Given the description of an element on the screen output the (x, y) to click on. 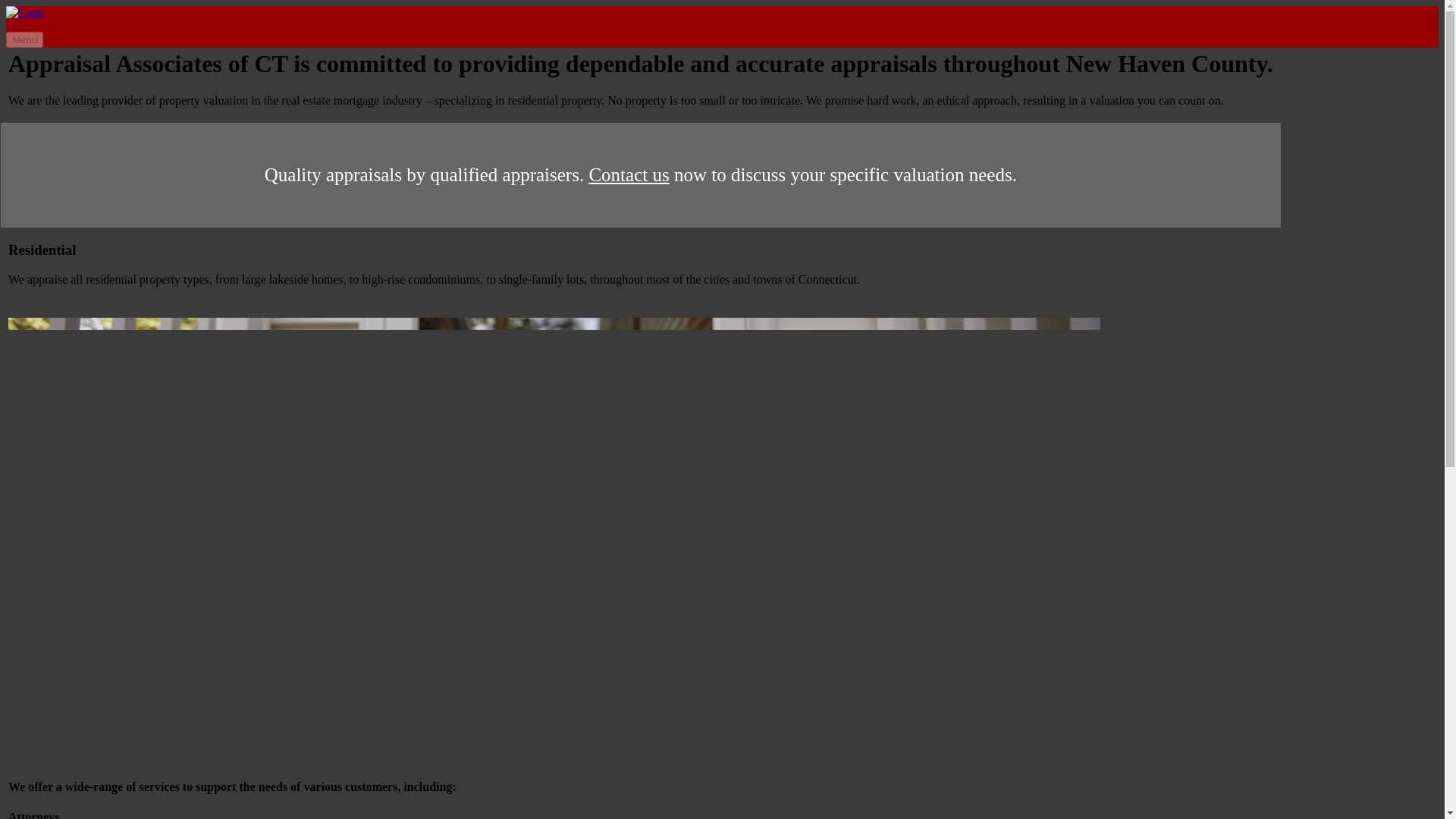
Menu (24, 39)
Contact us (628, 174)
